Given the description of an element on the screen output the (x, y) to click on. 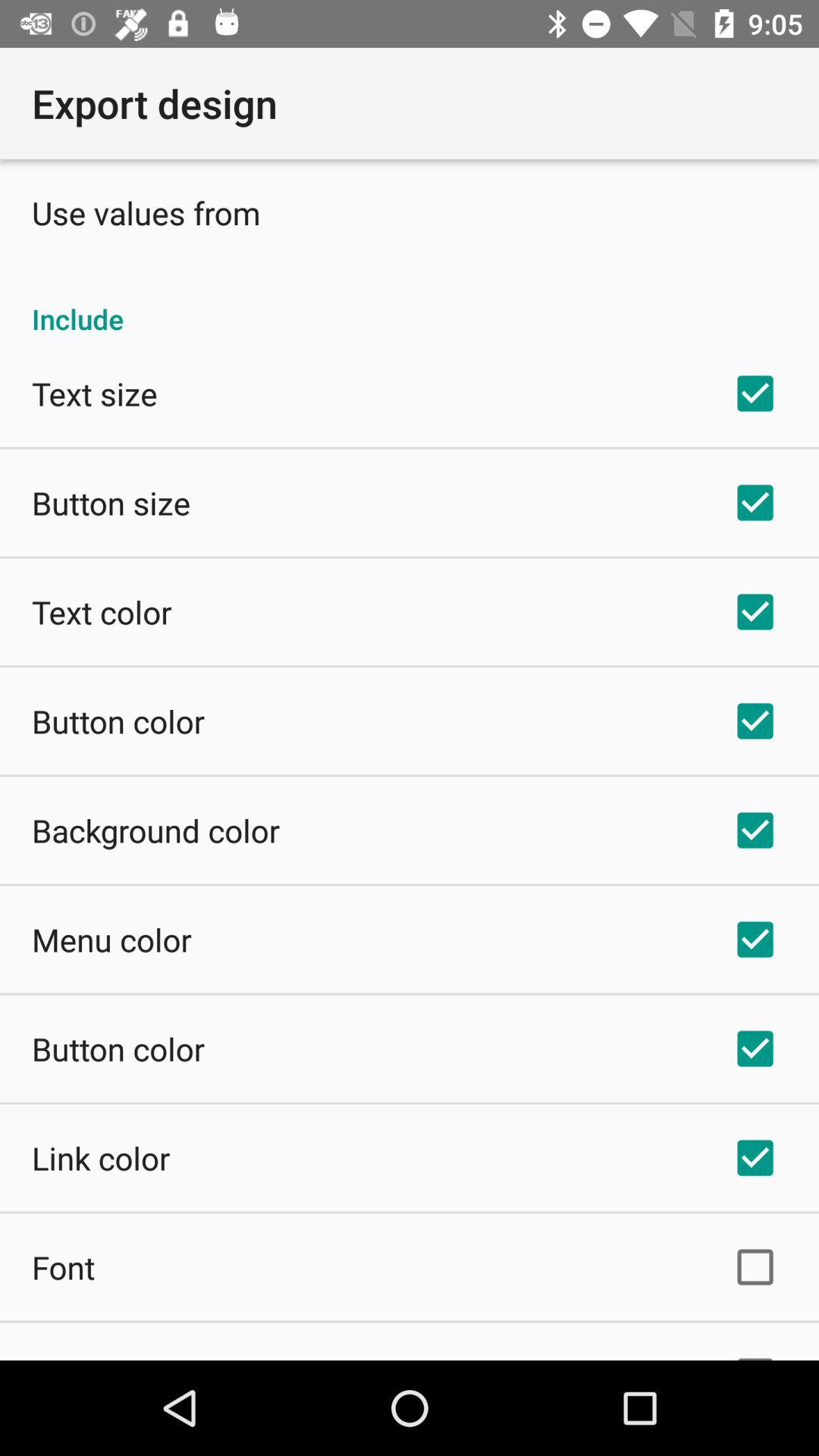
scroll to the shadow (88, 1357)
